Given the description of an element on the screen output the (x, y) to click on. 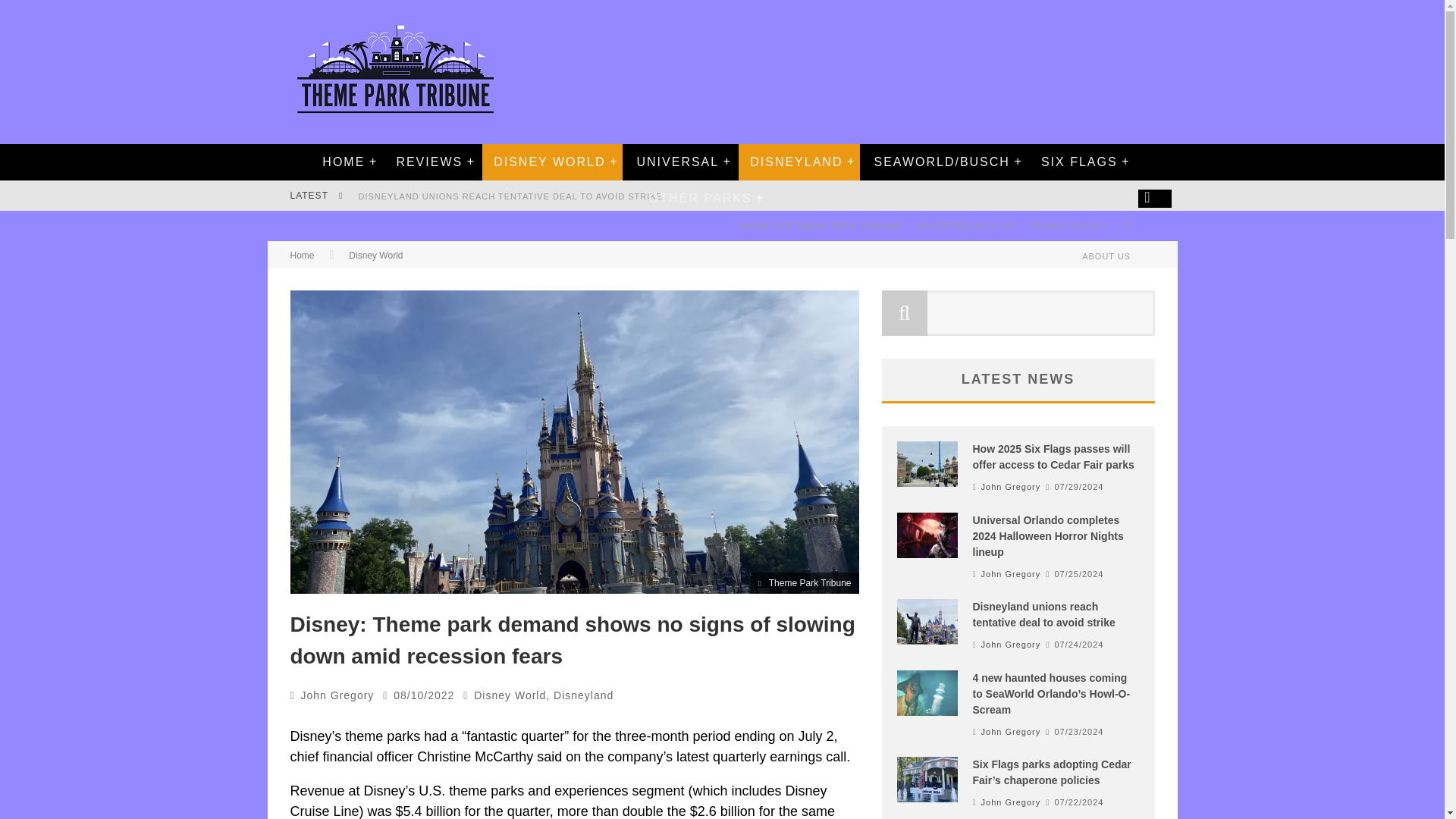
Disney World (376, 255)
Disneyland (582, 695)
View all posts in Disney World (376, 255)
DISNEYLAND UNIONS REACH TENTATIVE DEAL TO AVOID STRIKE (510, 195)
Disney World (510, 695)
John Gregory (337, 695)
OTHER PARKS (699, 198)
Log In (721, 470)
SIX FLAGS (1079, 162)
Disneyland unions reach tentative deal to avoid strike (510, 195)
UNIVERSAL (677, 162)
View all posts in Disney World (510, 695)
HOME (343, 162)
ABOUT US (1106, 255)
ADVERTISE WITH US (965, 225)
